Given the description of an element on the screen output the (x, y) to click on. 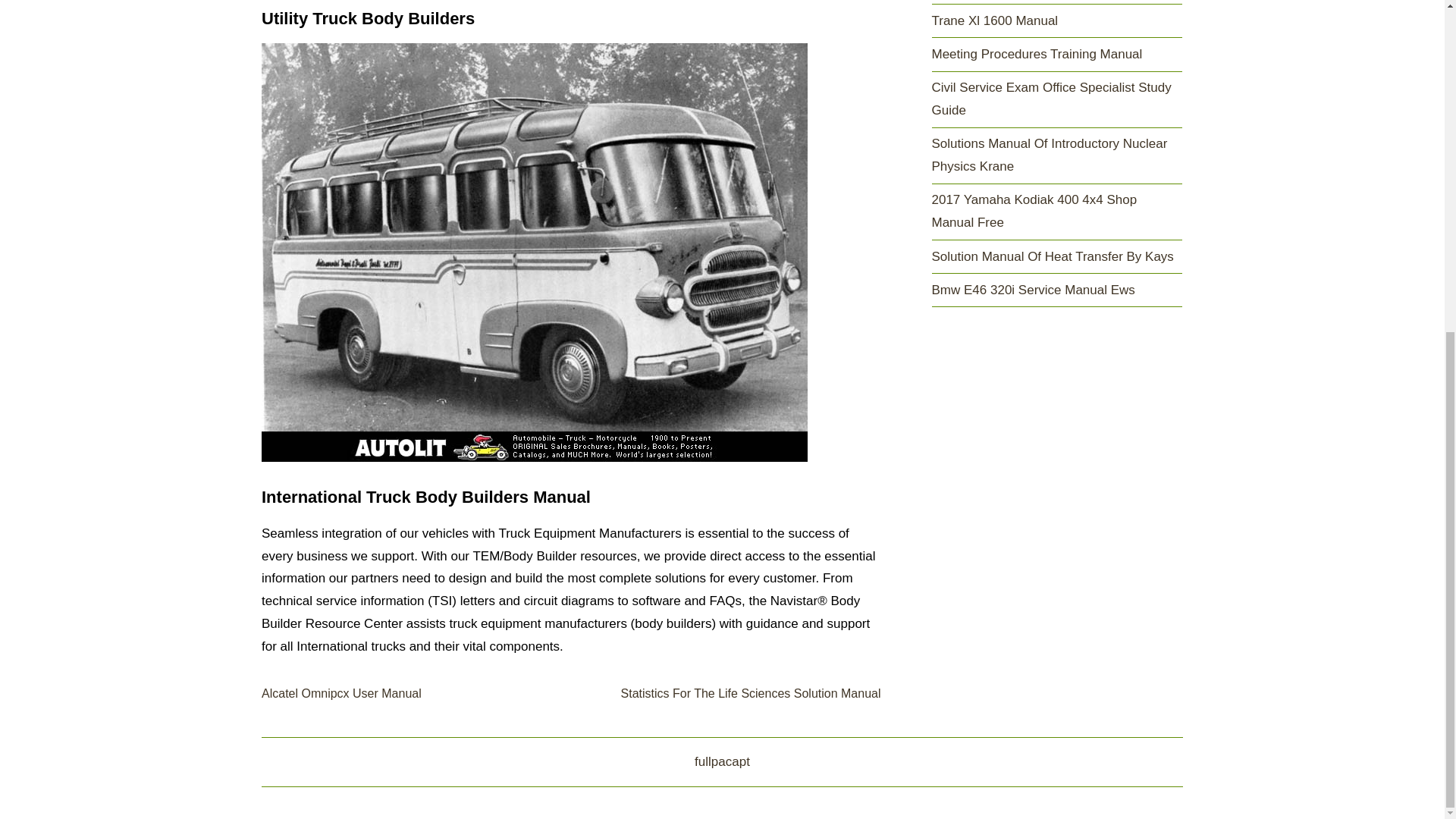
2017 Yamaha Kodiak 400 4x4 Shop Manual Free (1034, 211)
fullpacapt (721, 761)
Solution Manual Of Heat Transfer By Kays (1052, 256)
Solutions Manual Of Introductory Nuclear Physics Krane (1049, 154)
Statistics For The Life Sciences Solution Manual (750, 693)
Alcatel Omnipcx User Manual (342, 693)
Trane Xl 1600 Manual (994, 20)
Civil Service Exam Office Specialist Study Guide (1050, 98)
Meeting Procedures Training Manual (1036, 53)
